Given the description of an element on the screen output the (x, y) to click on. 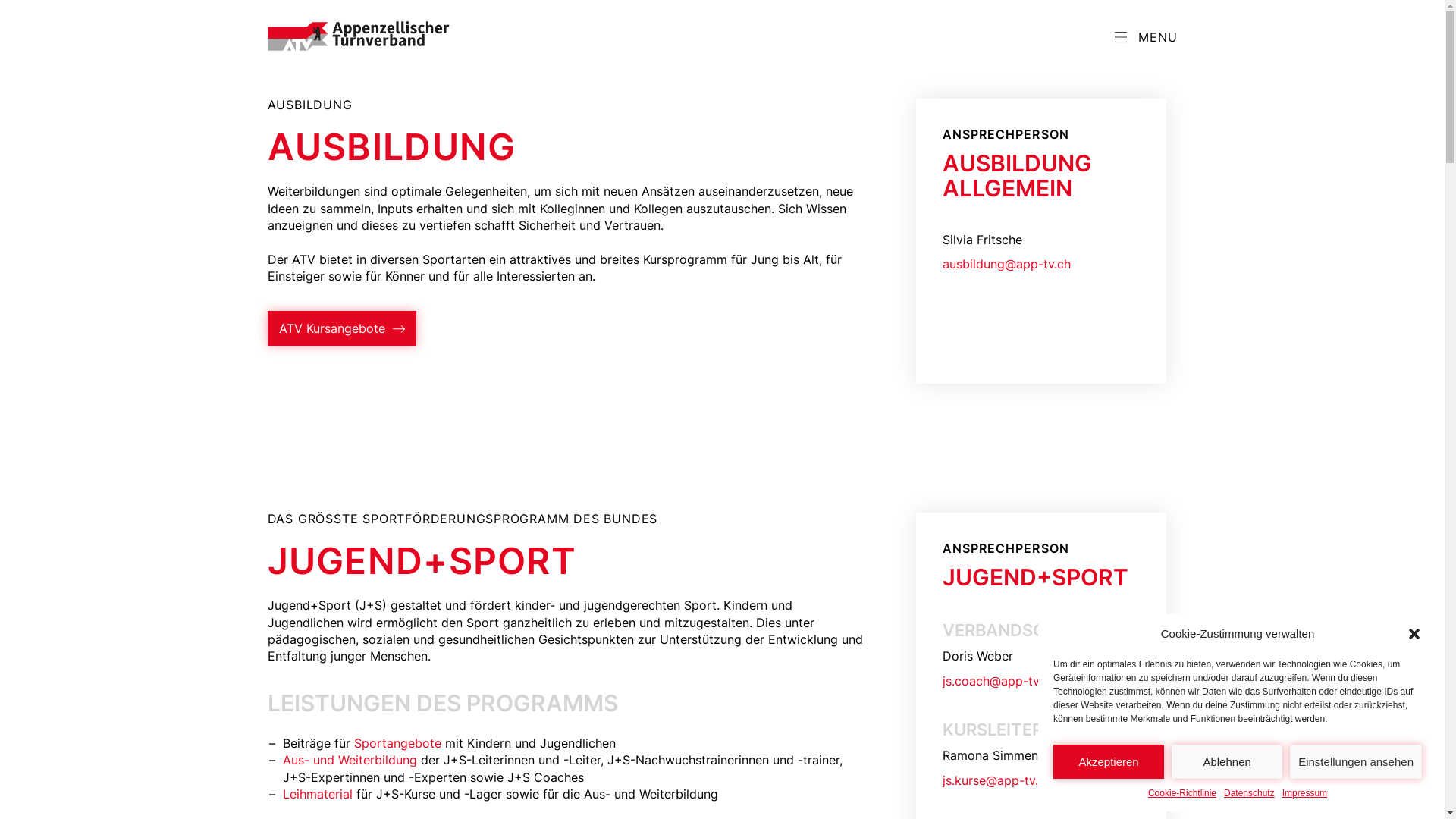
Aus- und Weiterbildung Element type: text (349, 759)
Cookie-Richtlinie Element type: text (1182, 793)
Ablehnen Element type: text (1226, 761)
Einstellungen ansehen Element type: text (1355, 761)
Impressum Element type: text (1304, 793)
js.kurse@app-tv.ch Element type: text (1040, 779)
Leihmaterial Element type: text (316, 793)
arrow-icon-size3
ATV Kursangebote Element type: text (340, 327)
ausbildung@app-tv.ch Element type: text (1040, 263)
Sportangebote Element type: text (396, 742)
Datenschutz Element type: text (1248, 793)
Akzeptieren Element type: text (1108, 761)
js.coach@app-tv.ch Element type: text (1040, 680)
